Given the description of an element on the screen output the (x, y) to click on. 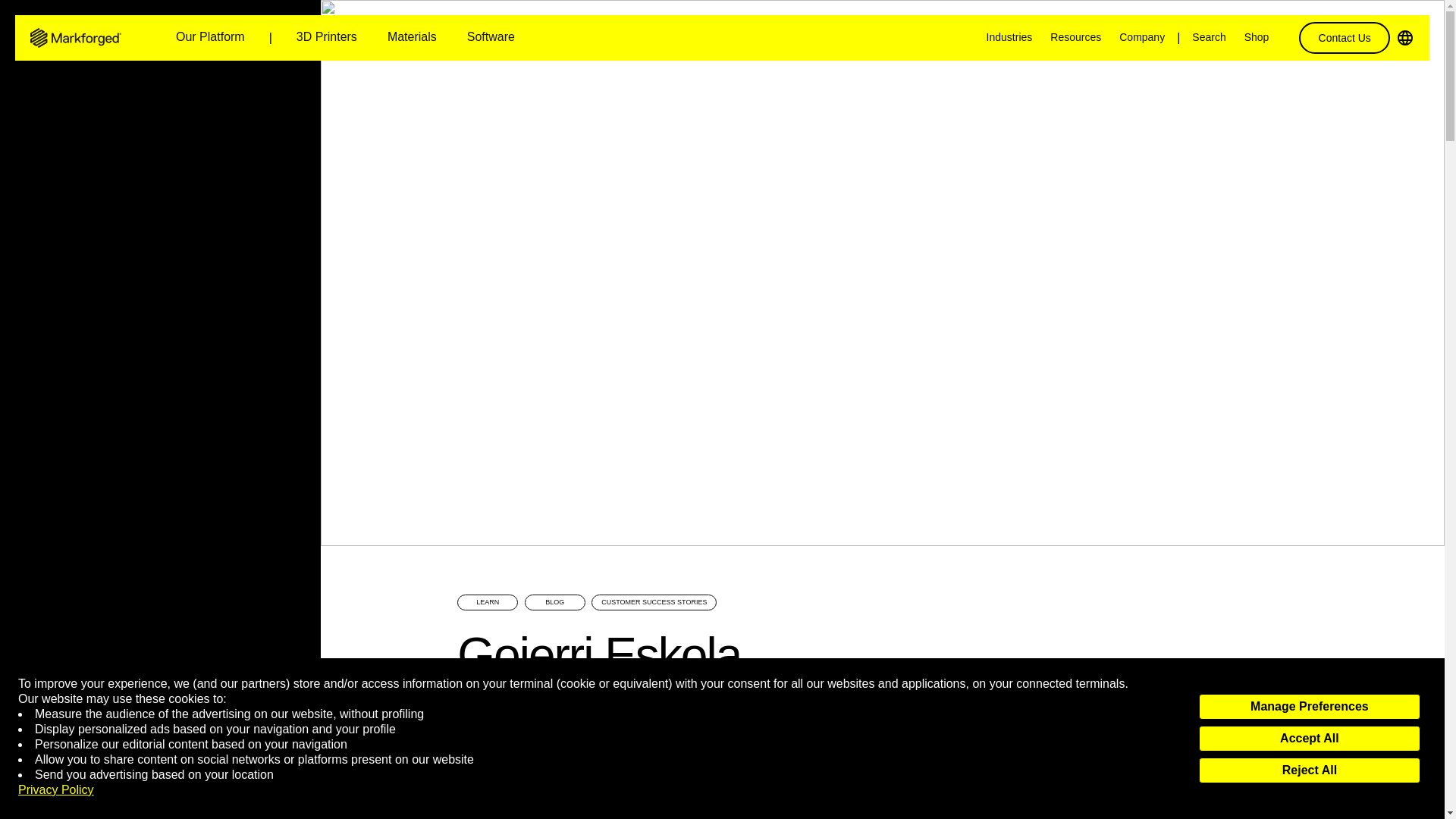
3D Printers (325, 37)
Accept All (1309, 738)
Manage Preferences (1309, 706)
Materials (411, 37)
Privacy Policy (55, 789)
Our Platform (210, 37)
Reject All (1309, 769)
